Given the description of an element on the screen output the (x, y) to click on. 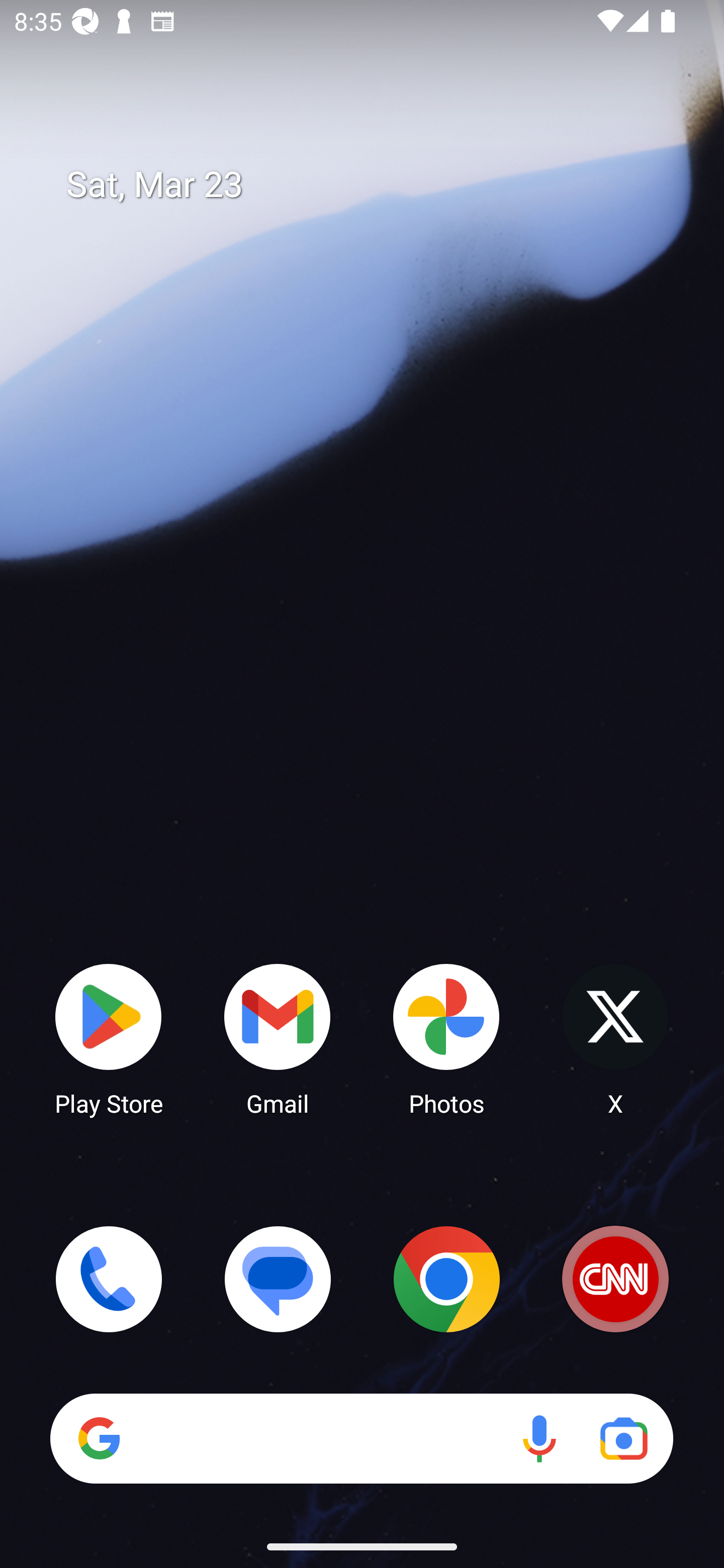
Sat, Mar 23 (375, 184)
Play Store (108, 1038)
Gmail (277, 1038)
Photos (445, 1038)
X (615, 1038)
Phone (108, 1279)
Messages (277, 1279)
Chrome (446, 1279)
CNN Predicted app: CNN (615, 1279)
Voice search (539, 1438)
Google Lens (623, 1438)
